Given the description of an element on the screen output the (x, y) to click on. 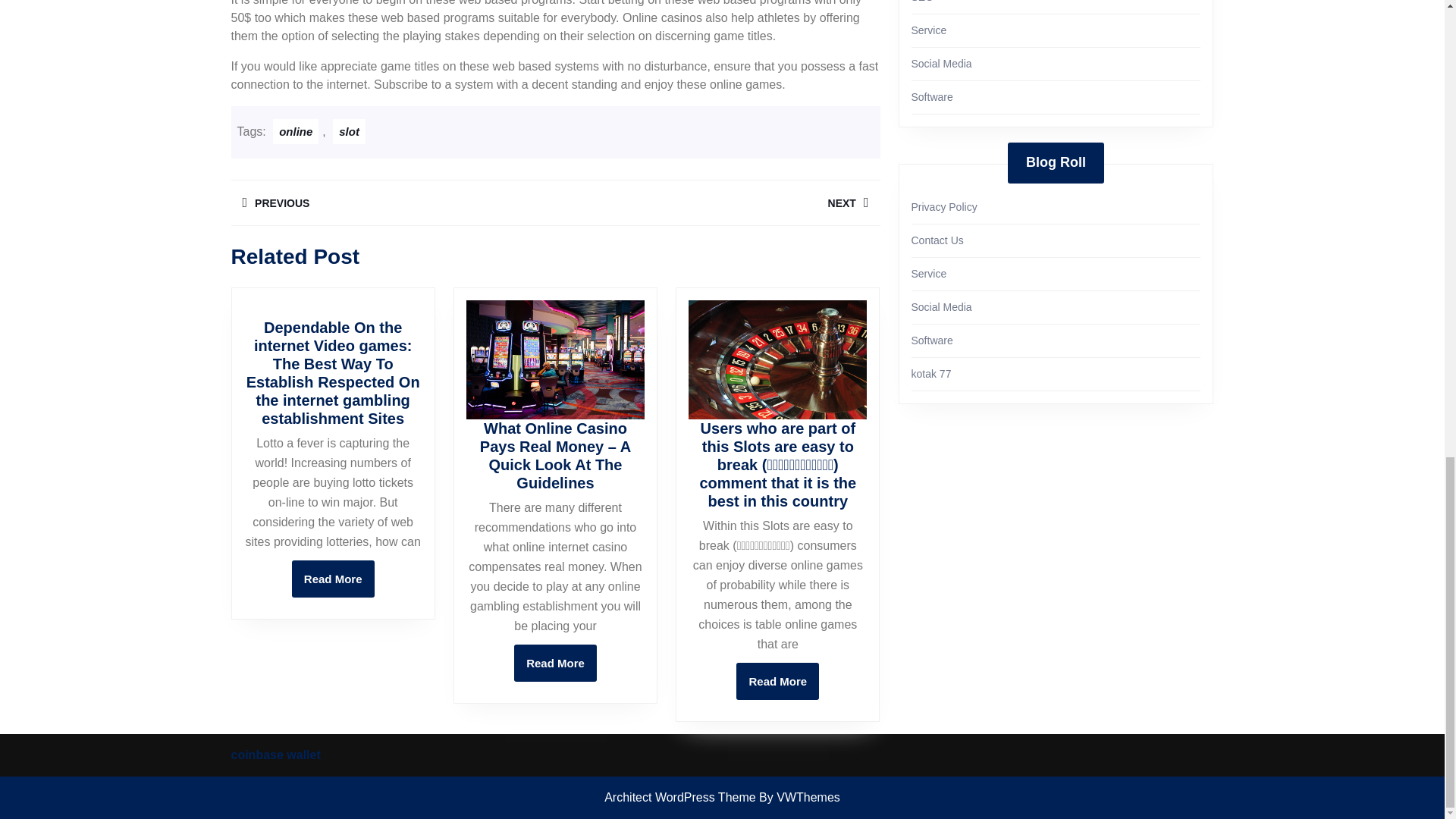
online (295, 131)
slot (716, 202)
